Given the description of an element on the screen output the (x, y) to click on. 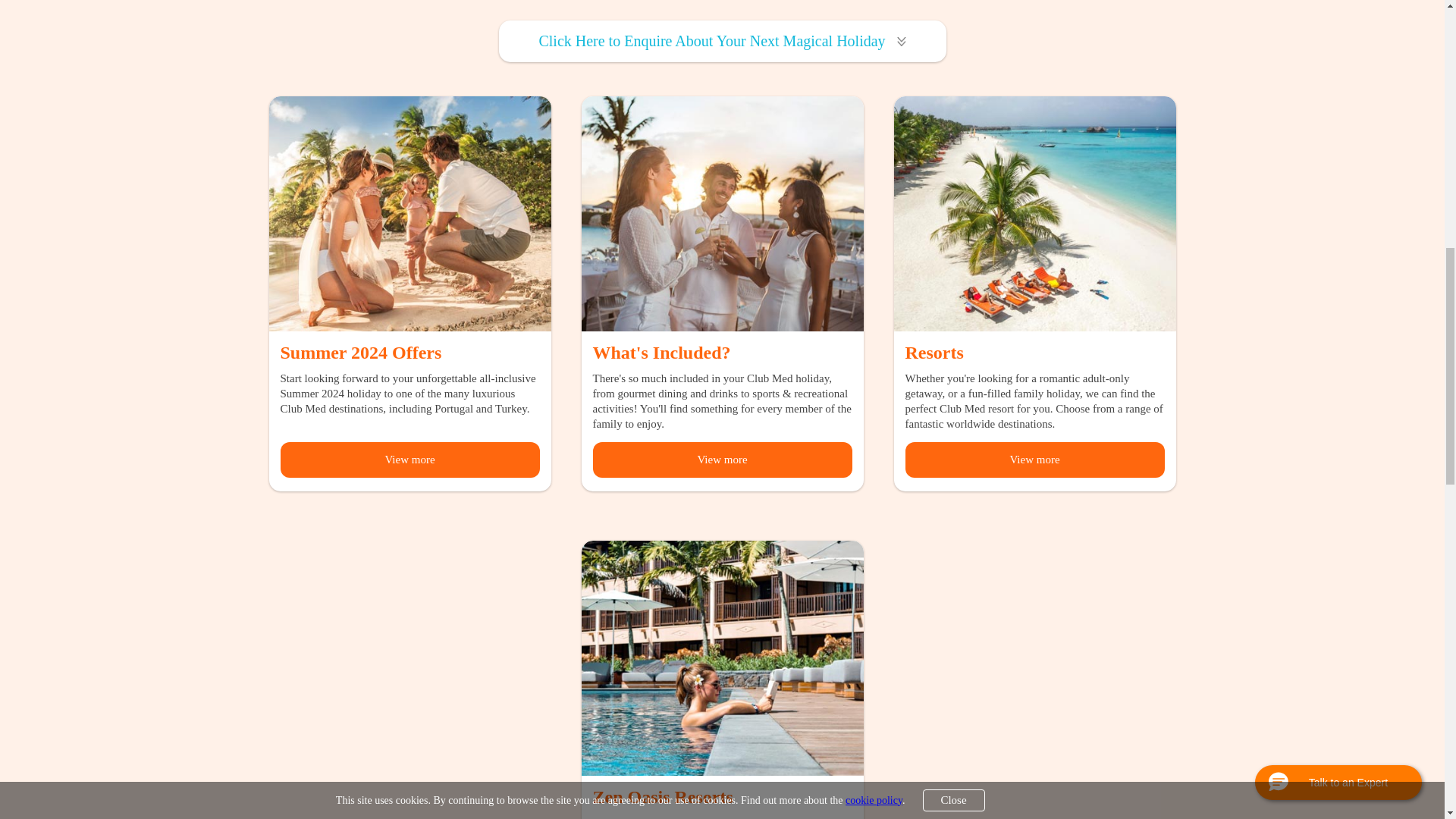
What's Included? (661, 352)
View more  (721, 459)
Summer 2024 Offers (361, 352)
What's Included? (721, 213)
What's Included? (721, 287)
Summer 2024 Offers (408, 280)
Resorts (1033, 287)
View more (410, 459)
Summer 2024 Offers (408, 213)
